Given the description of an element on the screen output the (x, y) to click on. 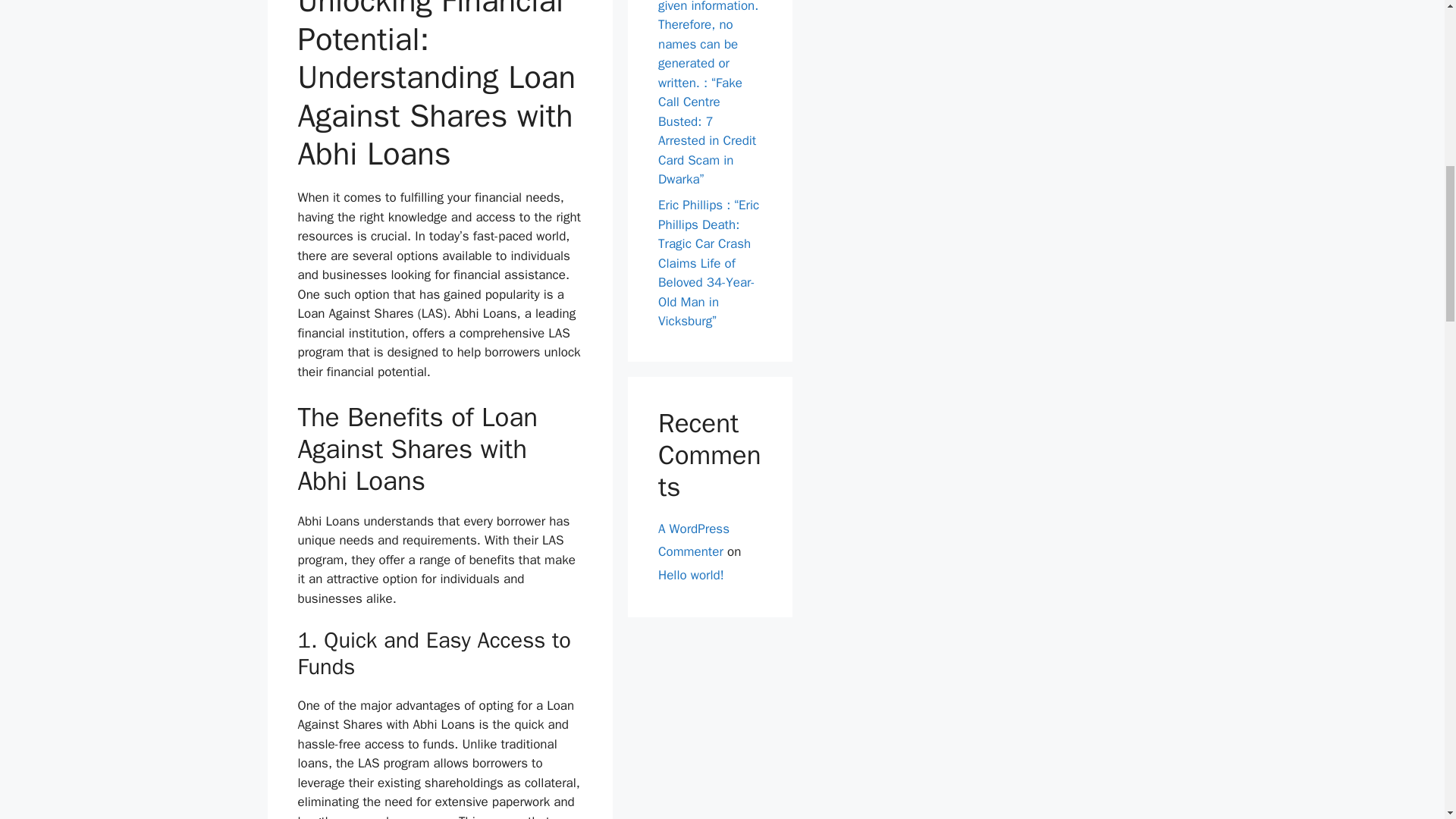
A WordPress Commenter (693, 539)
Hello world! (690, 575)
